Given the description of an element on the screen output the (x, y) to click on. 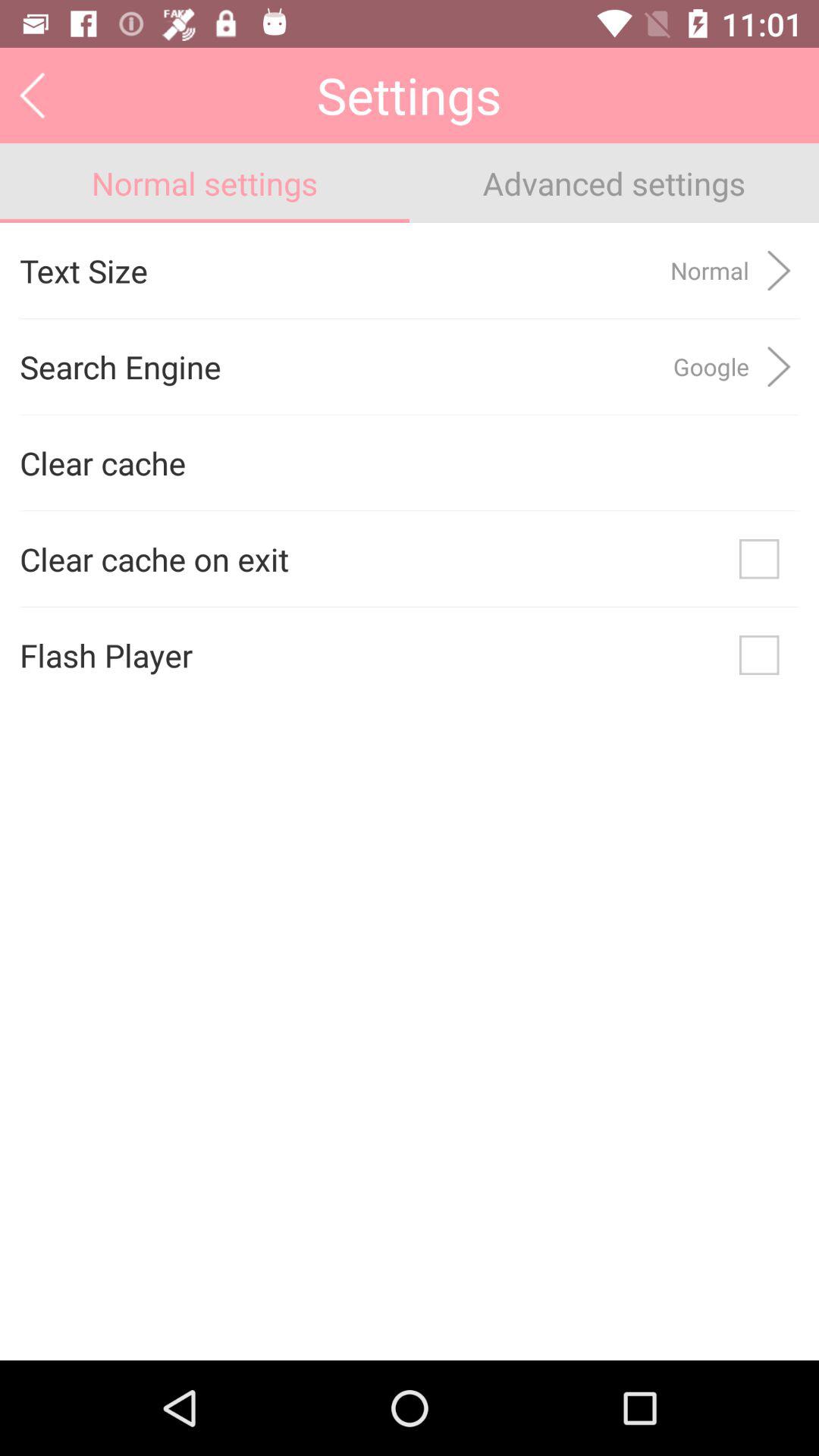
toggle clear cache on exit option (759, 558)
